Given the description of an element on the screen output the (x, y) to click on. 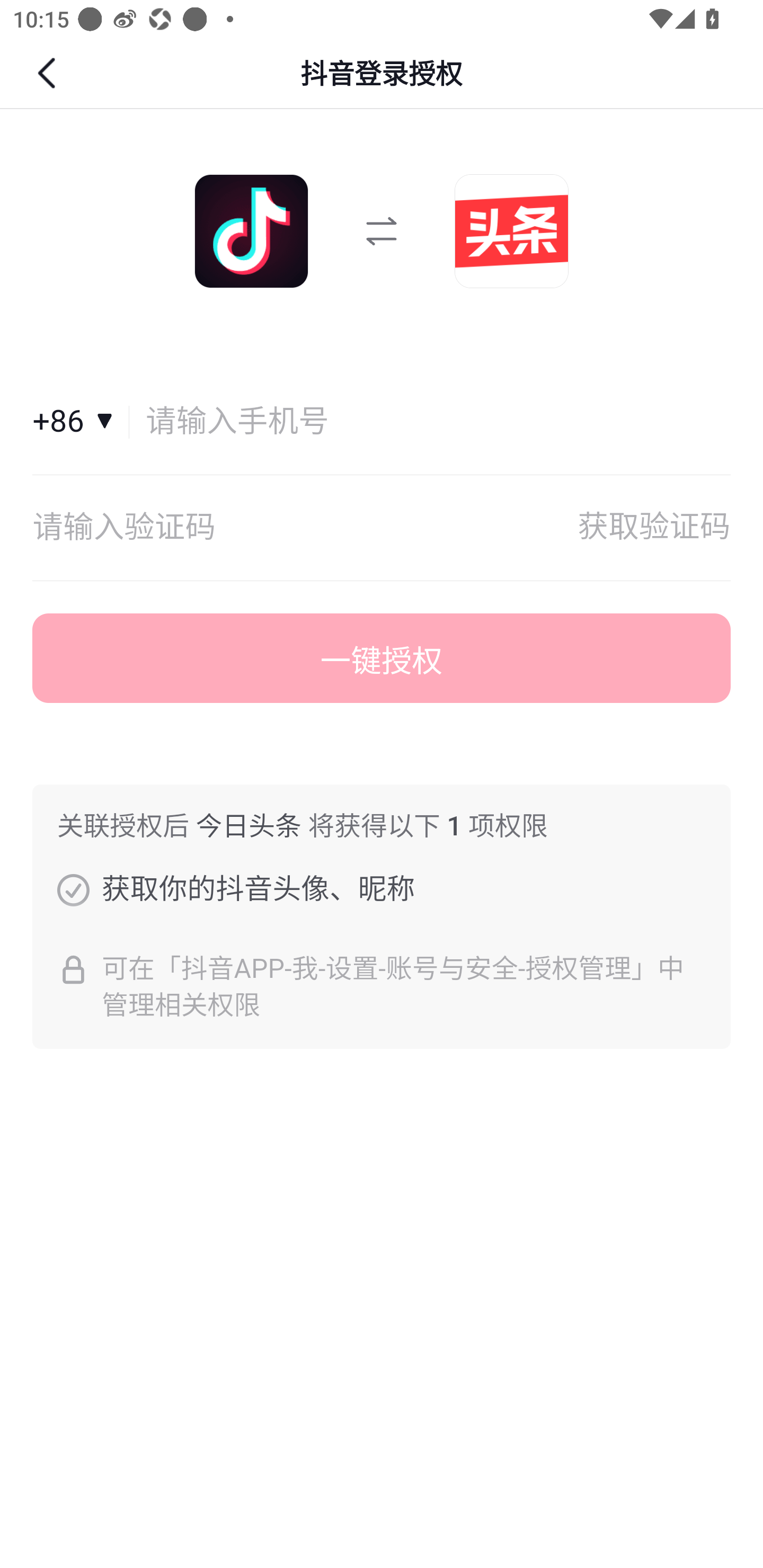
返回 (49, 72)
